Given the description of an element on the screen output the (x, y) to click on. 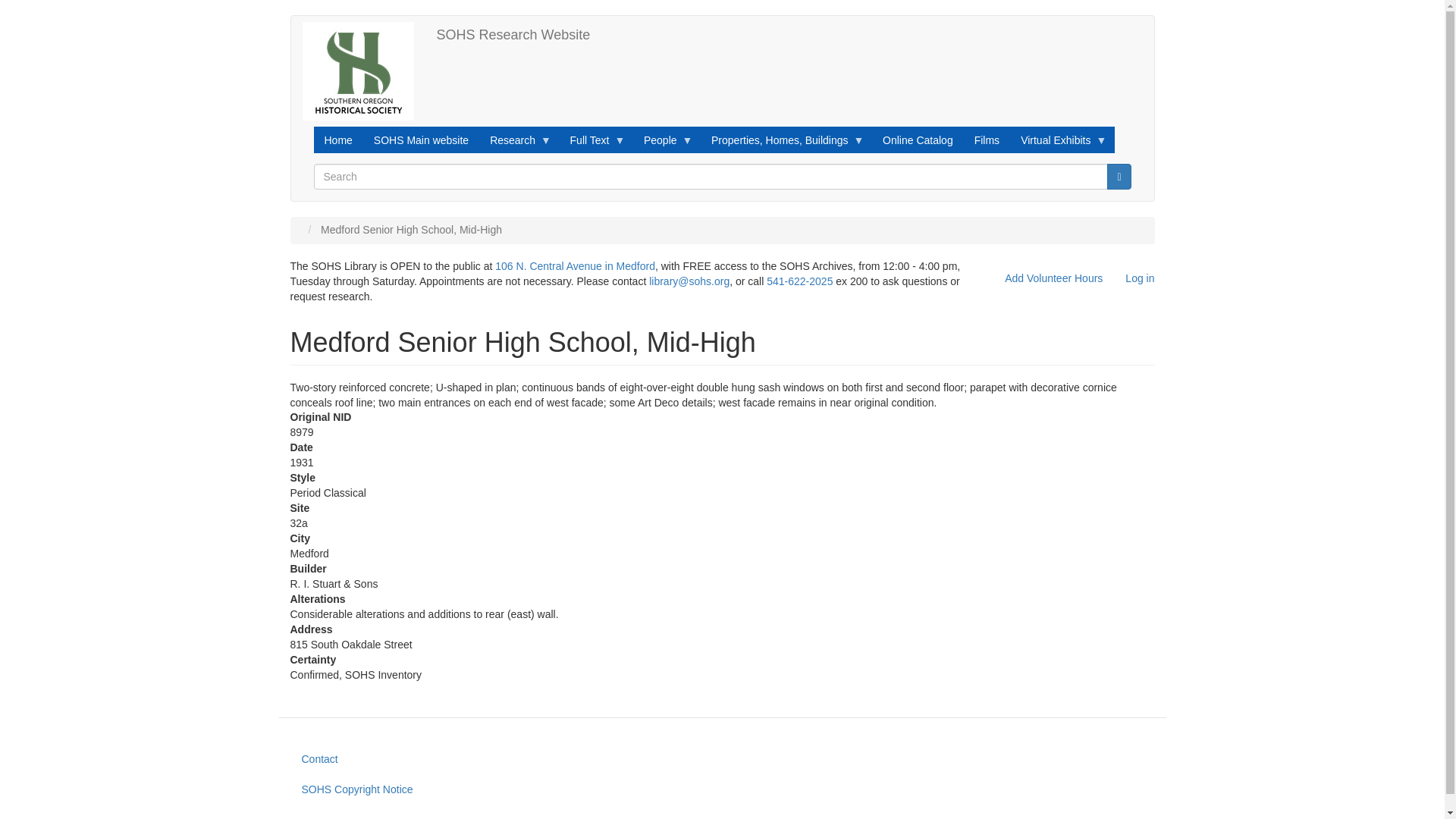
Newsclips, COPCO Films, etc. (986, 139)
SOHS Main website (420, 139)
SOHS Research Website (513, 34)
Home (363, 71)
Films (986, 139)
Online Catalog (917, 139)
Home (338, 139)
Home (513, 34)
